Given the description of an element on the screen output the (x, y) to click on. 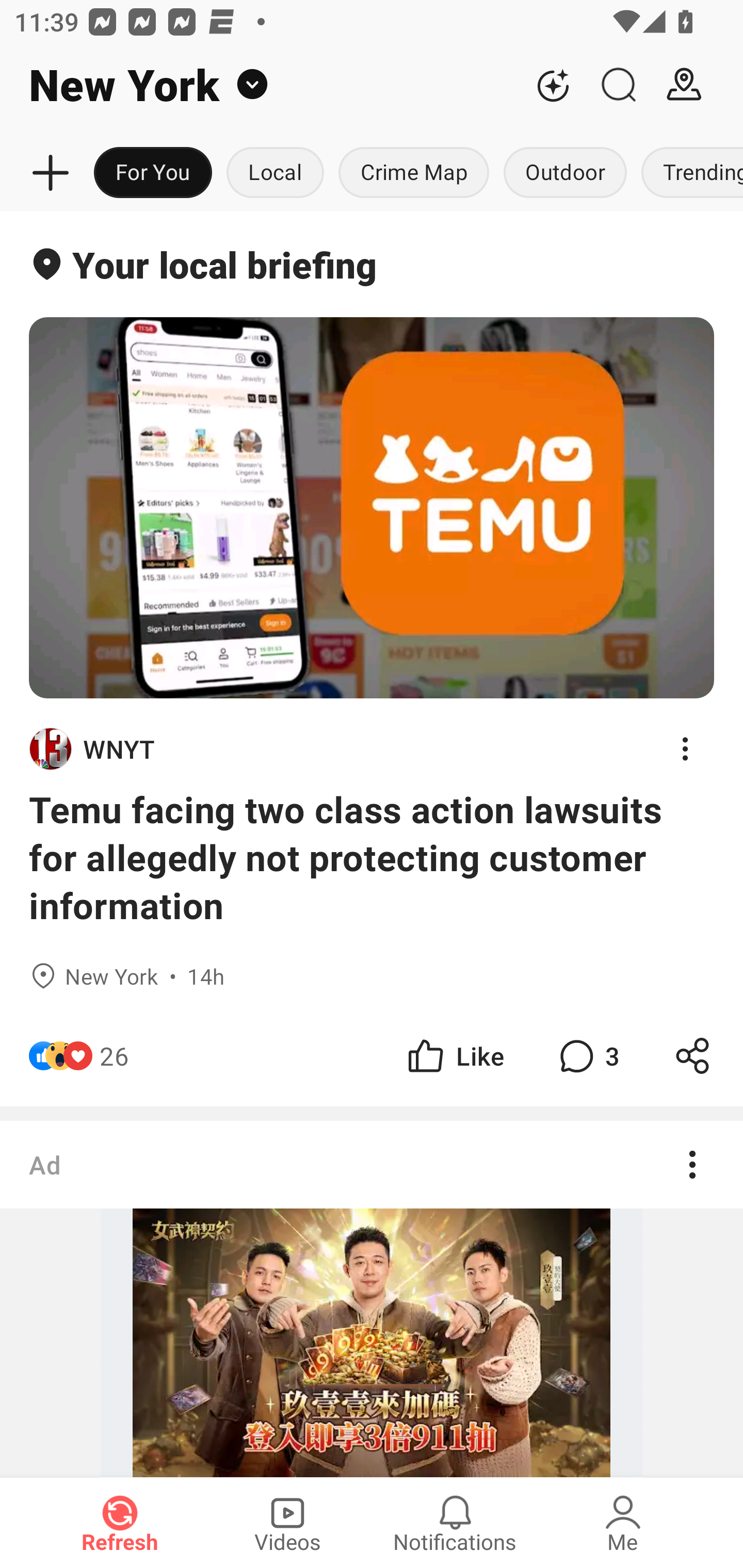
New York (260, 84)
For You (152, 172)
Local (275, 172)
Crime Map (413, 172)
Outdoor (564, 172)
Trending (688, 172)
26 (113, 1055)
Like (454, 1055)
3 (587, 1055)
Videos (287, 1522)
Notifications (455, 1522)
Me (622, 1522)
